Given the description of an element on the screen output the (x, y) to click on. 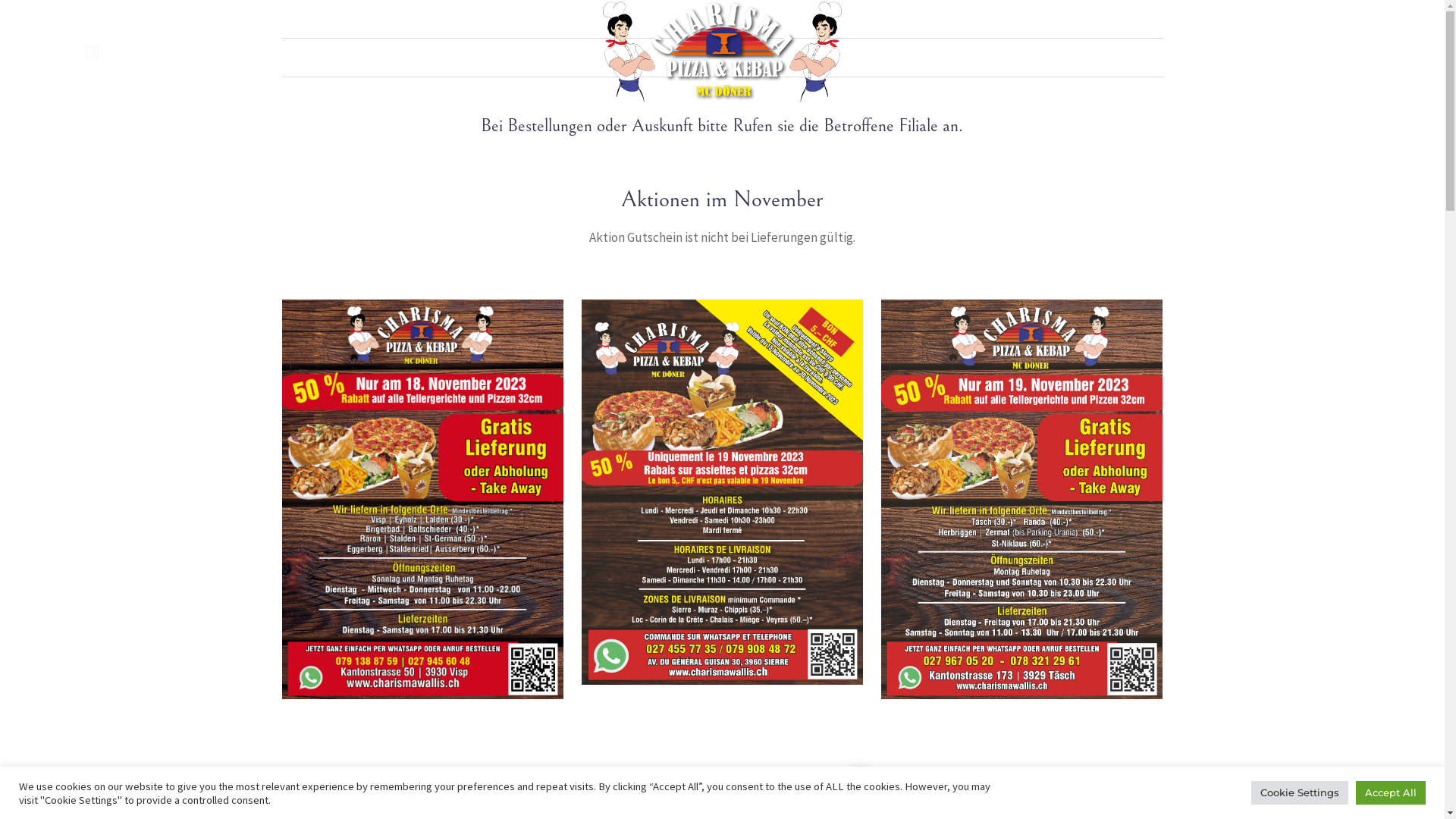
HOME Element type: text (383, 51)
KONTAKT Element type: text (909, 51)
STANDORTE Element type: text (524, 51)
Pinterest Element type: hover (91, 51)
GRILLHOUSE CHARISMA Element type: text (1023, 51)
Twitter Element type: hover (121, 51)
MENUS Element type: text (445, 51)
Facebook Element type: hover (61, 51)
Cookie Settings Element type: text (1299, 792)
Accept All Element type: text (1390, 792)
